Given the description of an element on the screen output the (x, y) to click on. 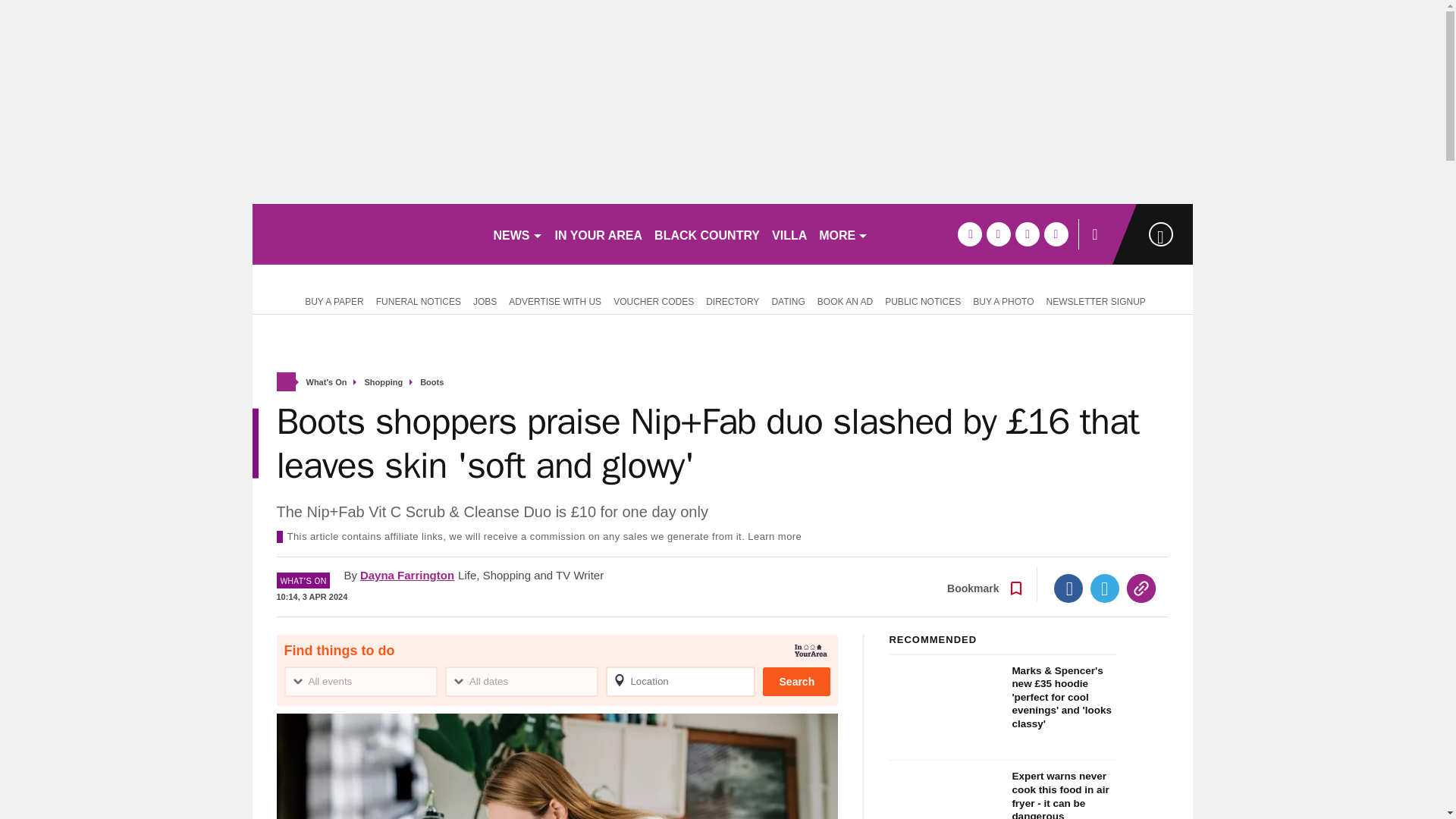
facebook (968, 233)
BLACK COUNTRY (706, 233)
tiktok (1026, 233)
twitter (997, 233)
IN YOUR AREA (598, 233)
birminghammail (365, 233)
MORE (843, 233)
NEWS (517, 233)
Twitter (1104, 588)
instagram (1055, 233)
